Given the description of an element on the screen output the (x, y) to click on. 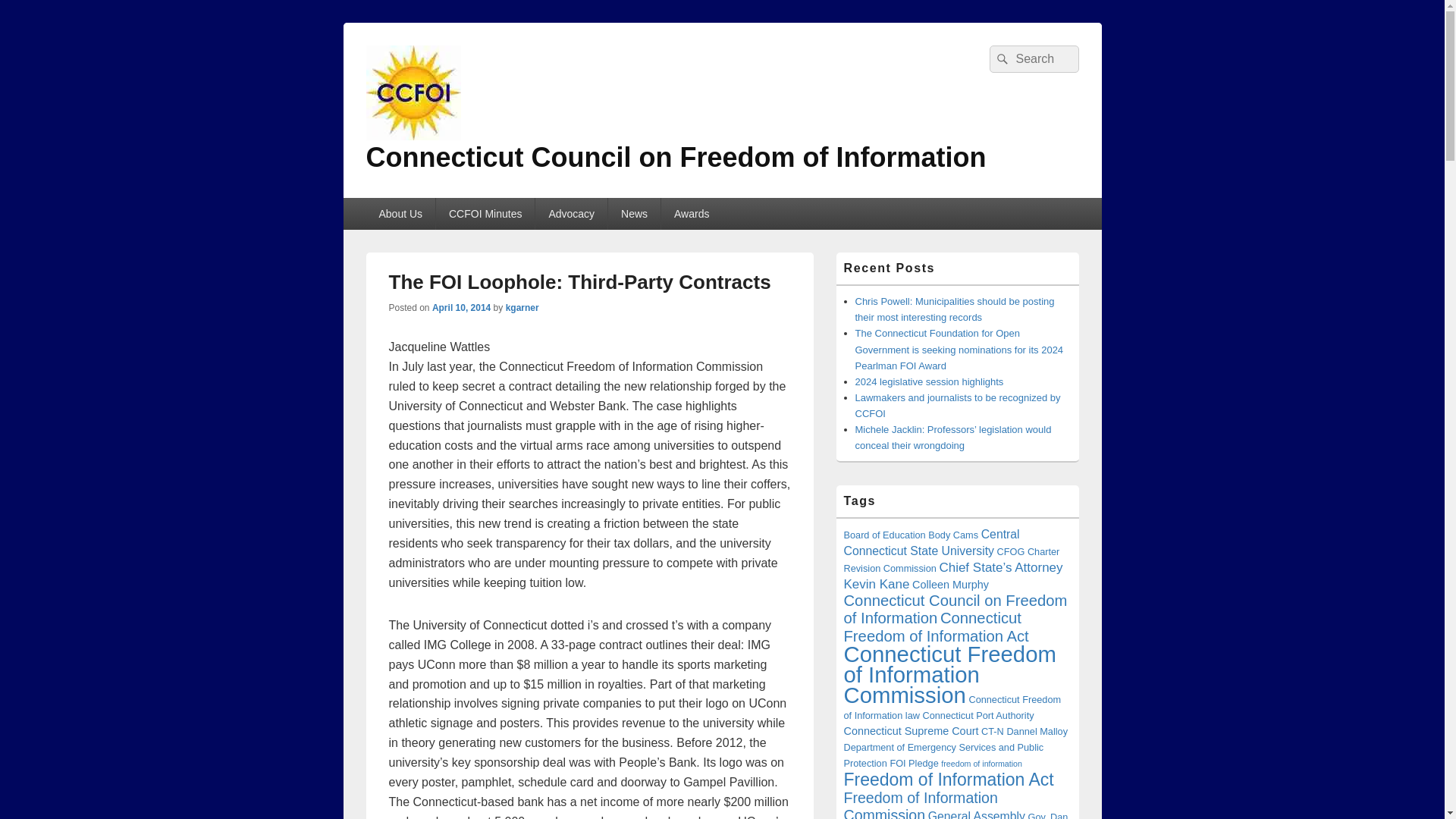
Awards (691, 214)
News (634, 214)
Search for: (1033, 58)
Advocacy (571, 214)
View all posts by kgarner (521, 307)
Connecticut Council on Freedom of Information (675, 156)
5:12 pm (461, 307)
About Us (400, 214)
kgarner (521, 307)
Search (999, 58)
April 10, 2014 (461, 307)
CCFOI Minutes (484, 214)
